Given the description of an element on the screen output the (x, y) to click on. 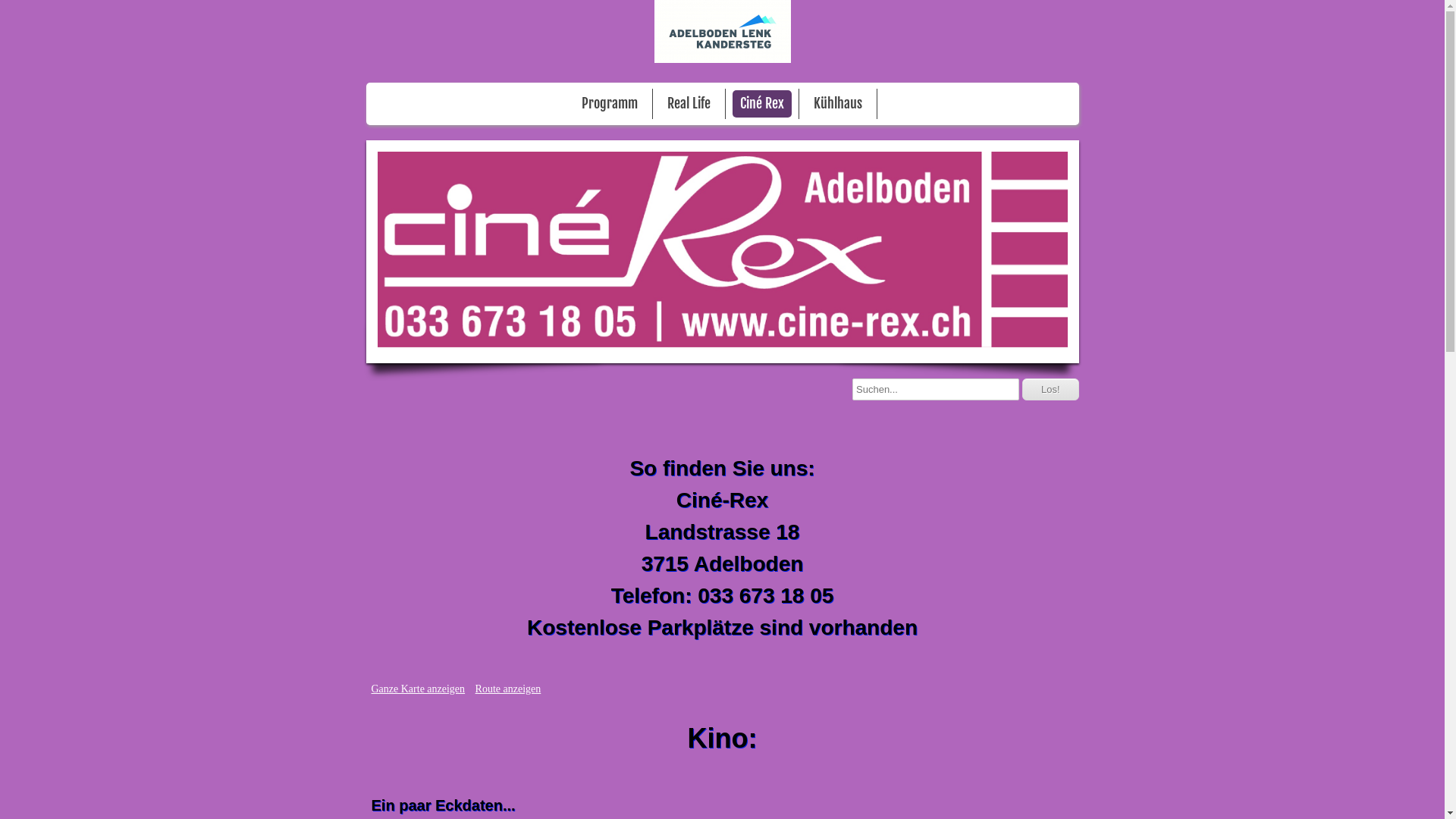
Los! Element type: text (1050, 389)
Programm Element type: text (609, 103)
Route anzeigen Element type: text (508, 688)
Ganze Karte anzeigen Element type: text (418, 688)
Real Life Element type: text (688, 103)
